Given the description of an element on the screen output the (x, y) to click on. 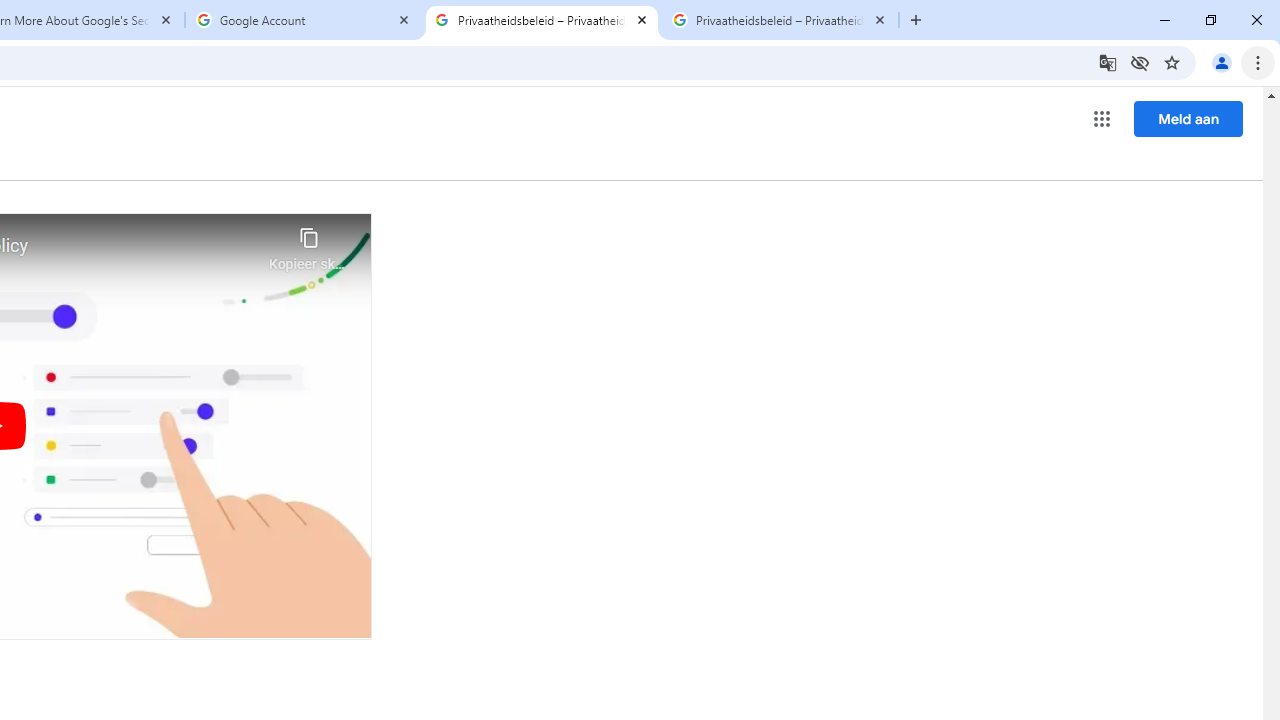
Meld aan (1188, 118)
Google-programme (1101, 118)
Translate this page (1107, 62)
Kopieer skakel (308, 244)
